Given the description of an element on the screen output the (x, y) to click on. 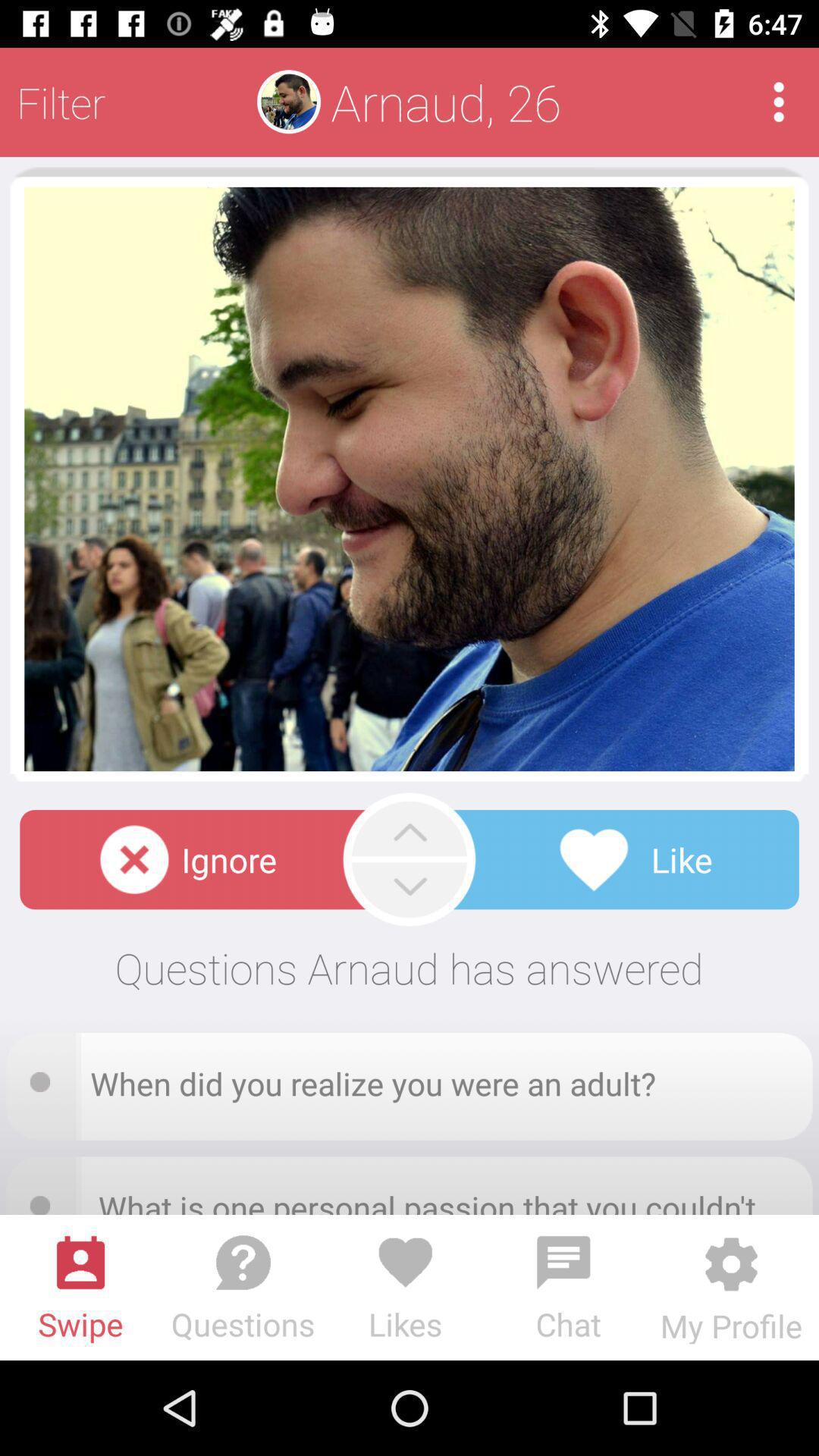
view more options (778, 101)
